Given the description of an element on the screen output the (x, y) to click on. 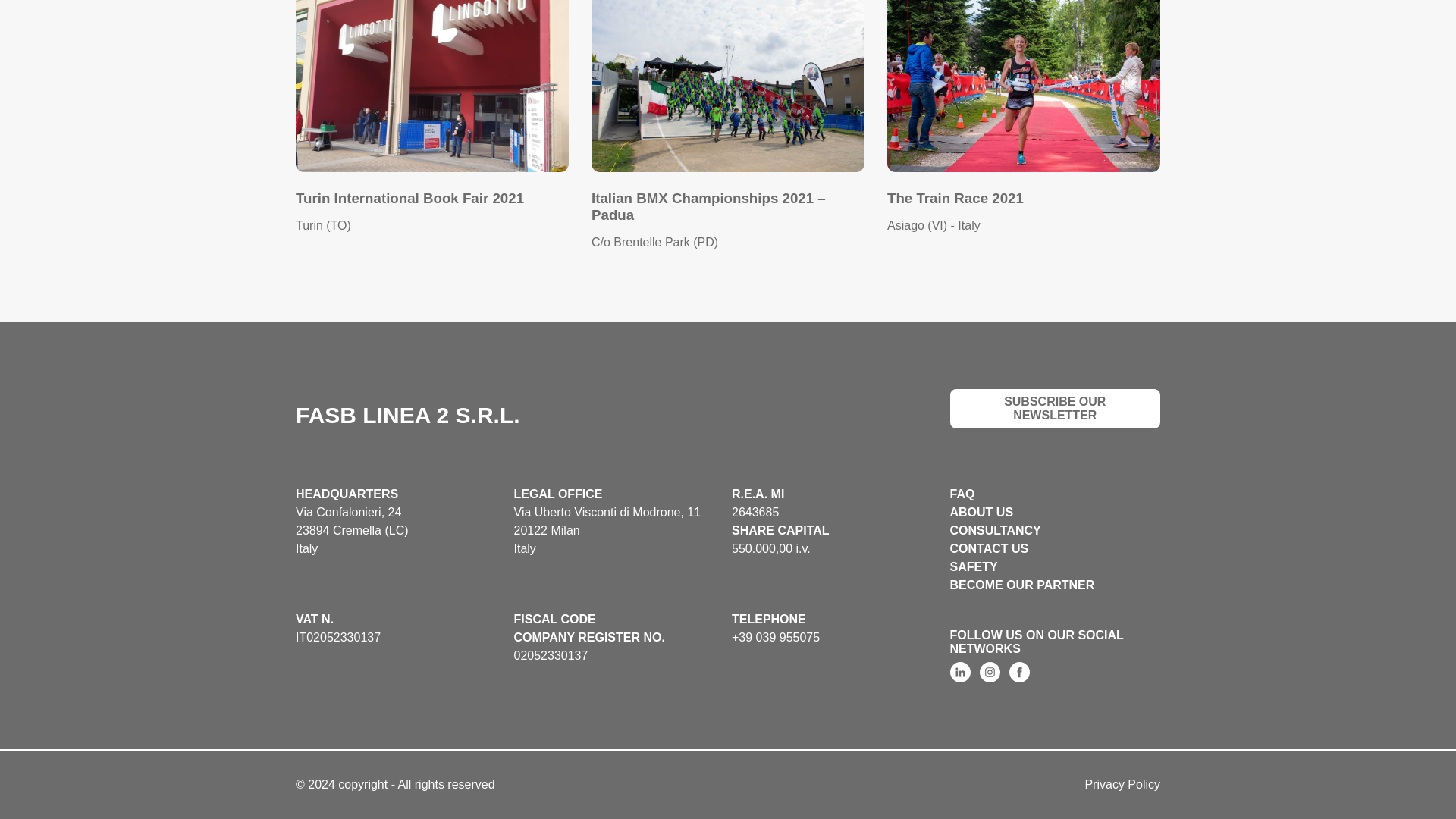
linkedin transenne (959, 671)
facebook transenne (1019, 671)
Turin International Book Fair 2021 Transenne.net (432, 85)
instagram transenne (989, 671)
The Train Race 2021 Transenne.net (1023, 85)
Privacy Policy  (1122, 784)
